Given the description of an element on the screen output the (x, y) to click on. 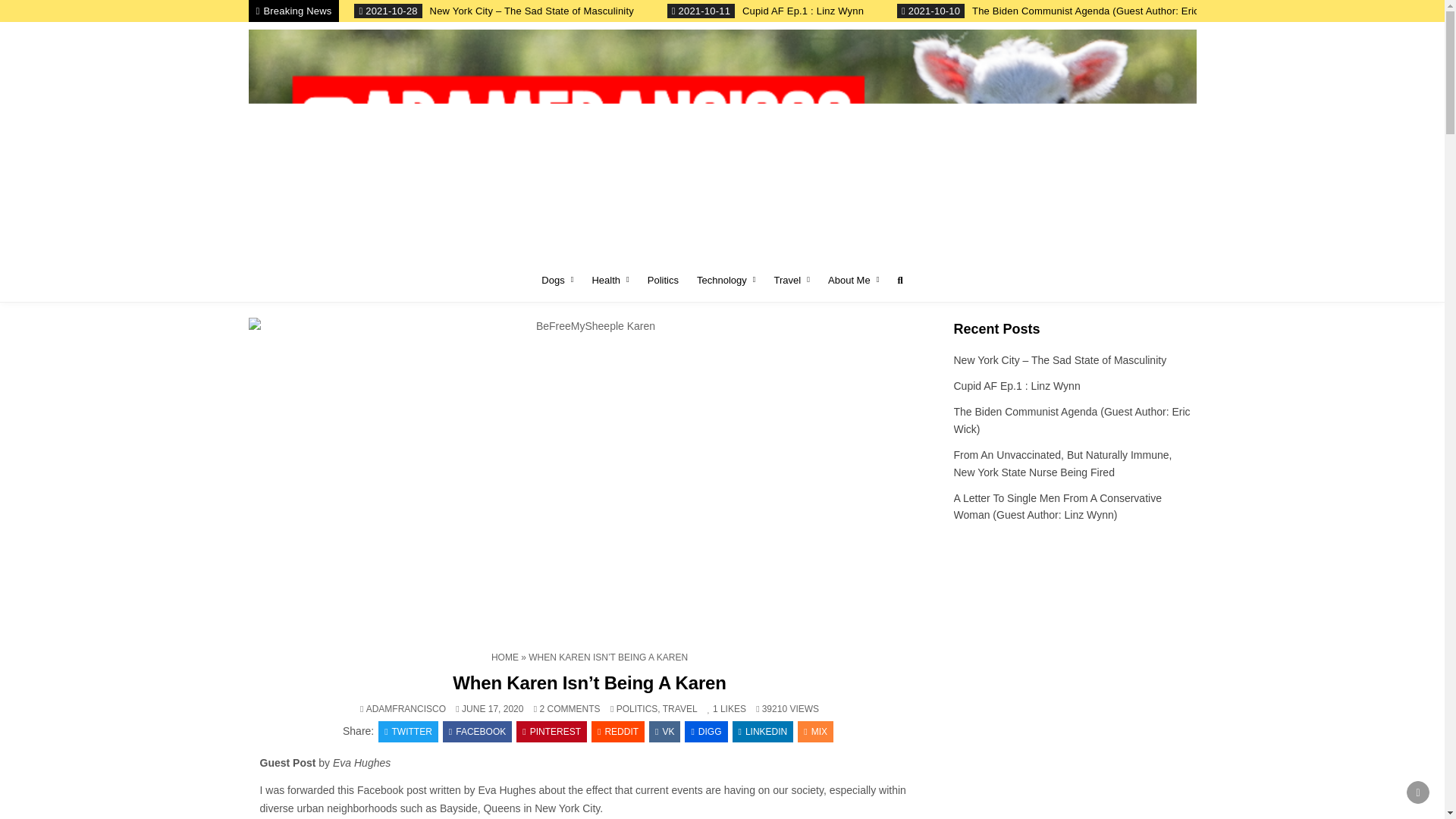
Share this on Pinterest (551, 731)
Share this on Facebook (477, 731)
Tweet This! (408, 731)
Share this on Reddit (618, 731)
39210 Views (771, 708)
Share this on VK (664, 731)
Travel (791, 280)
 2021-10-11 Cupid AF Ep.1 : Linz Wynn (767, 10)
BeFreeMySheeple (320, 273)
Politics (663, 280)
